Given the description of an element on the screen output the (x, y) to click on. 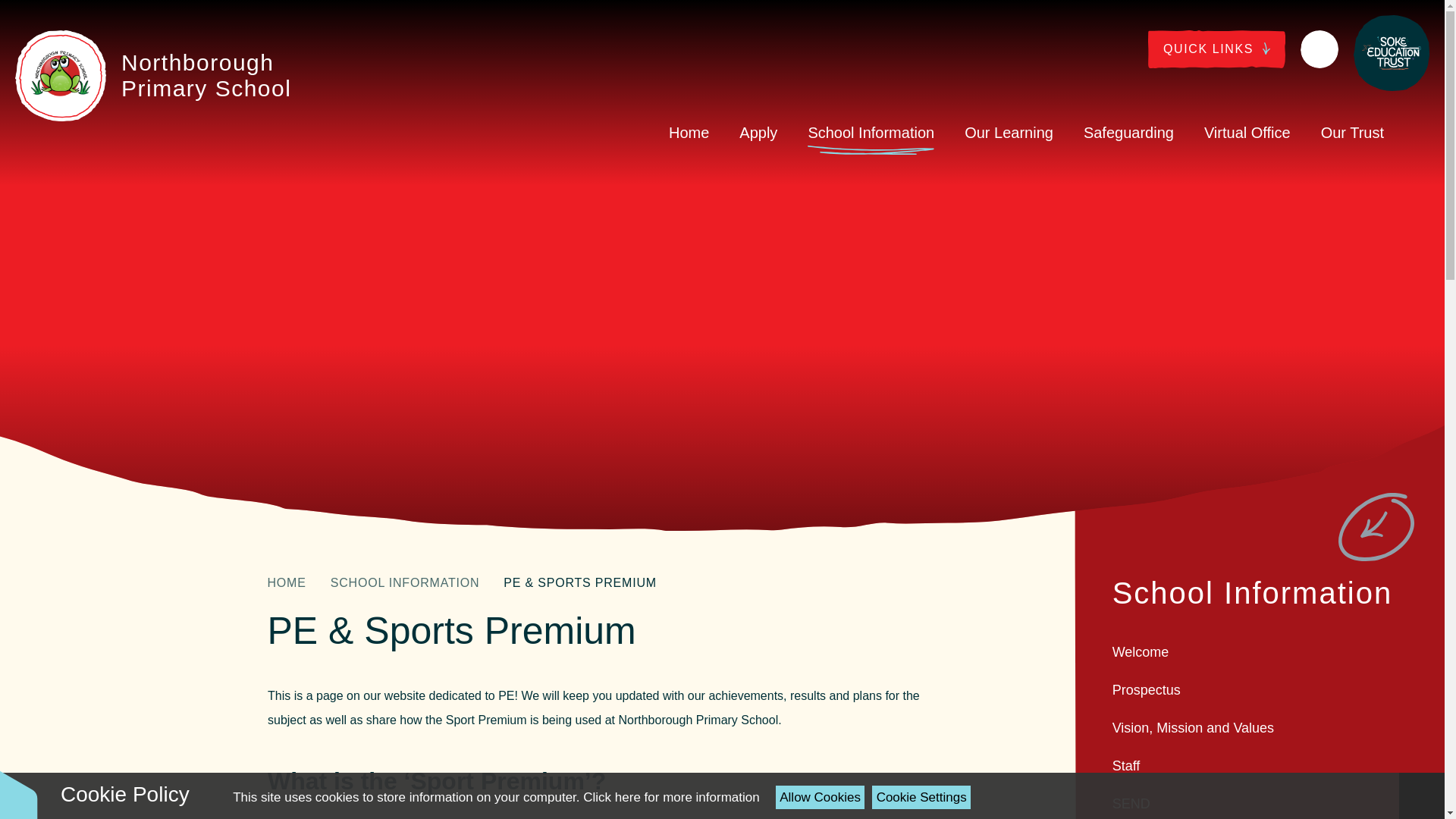
Toggle Search (1319, 48)
Home (688, 132)
School Information (871, 132)
Apply (758, 132)
